Given the description of an element on the screen output the (x, y) to click on. 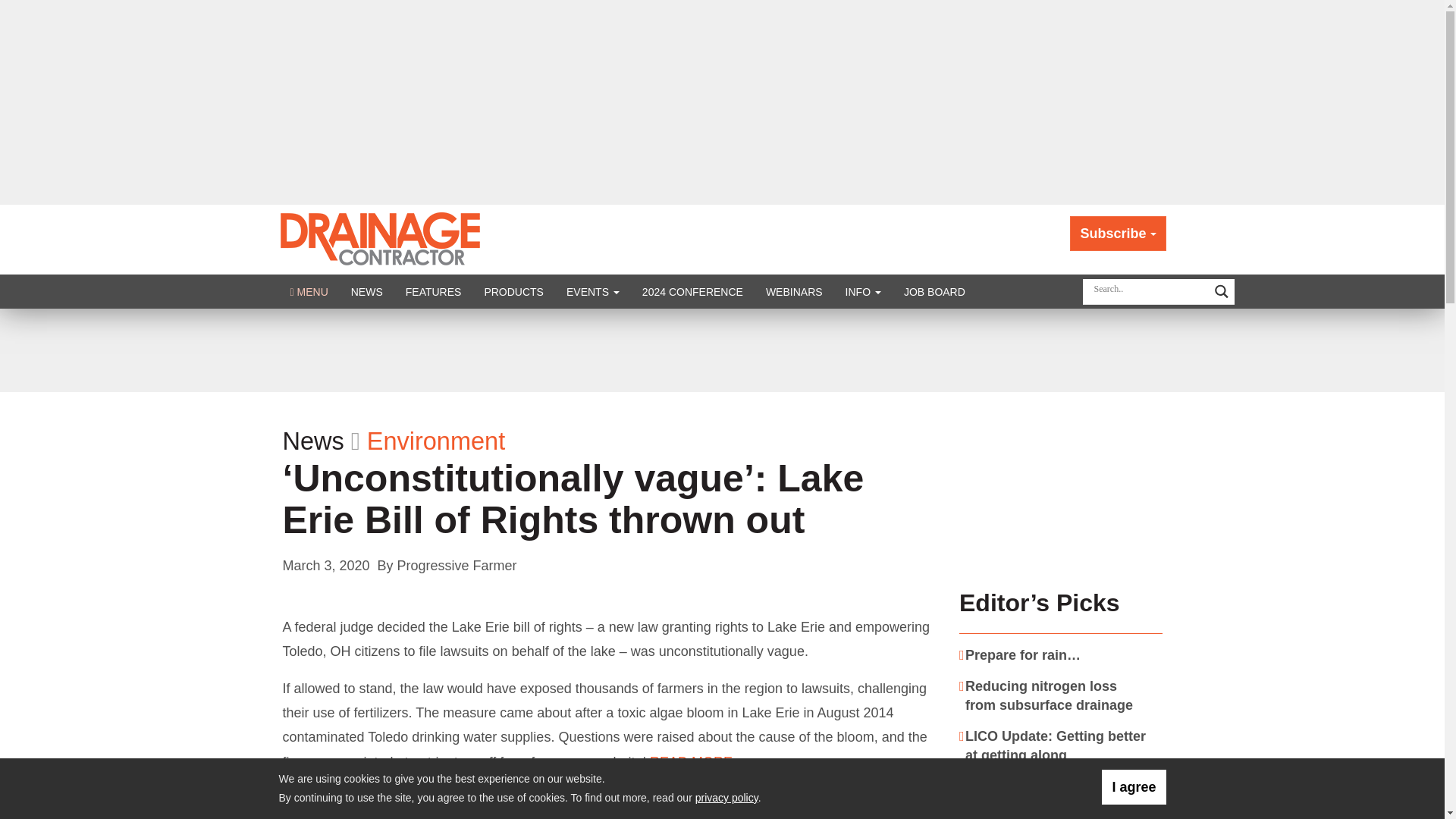
2024 CONFERENCE (692, 291)
JOB BOARD (934, 291)
WEBINARS (794, 291)
EVENTS (592, 291)
Click to show site navigation (309, 291)
MENU (309, 291)
Subscribe (1118, 233)
3rd party ad content (721, 350)
Drainage Contractor (380, 238)
INFO (863, 291)
NEWS (366, 291)
PRODUCTS (512, 291)
3rd party ad content (1060, 486)
FEATURES (433, 291)
